Given the description of an element on the screen output the (x, y) to click on. 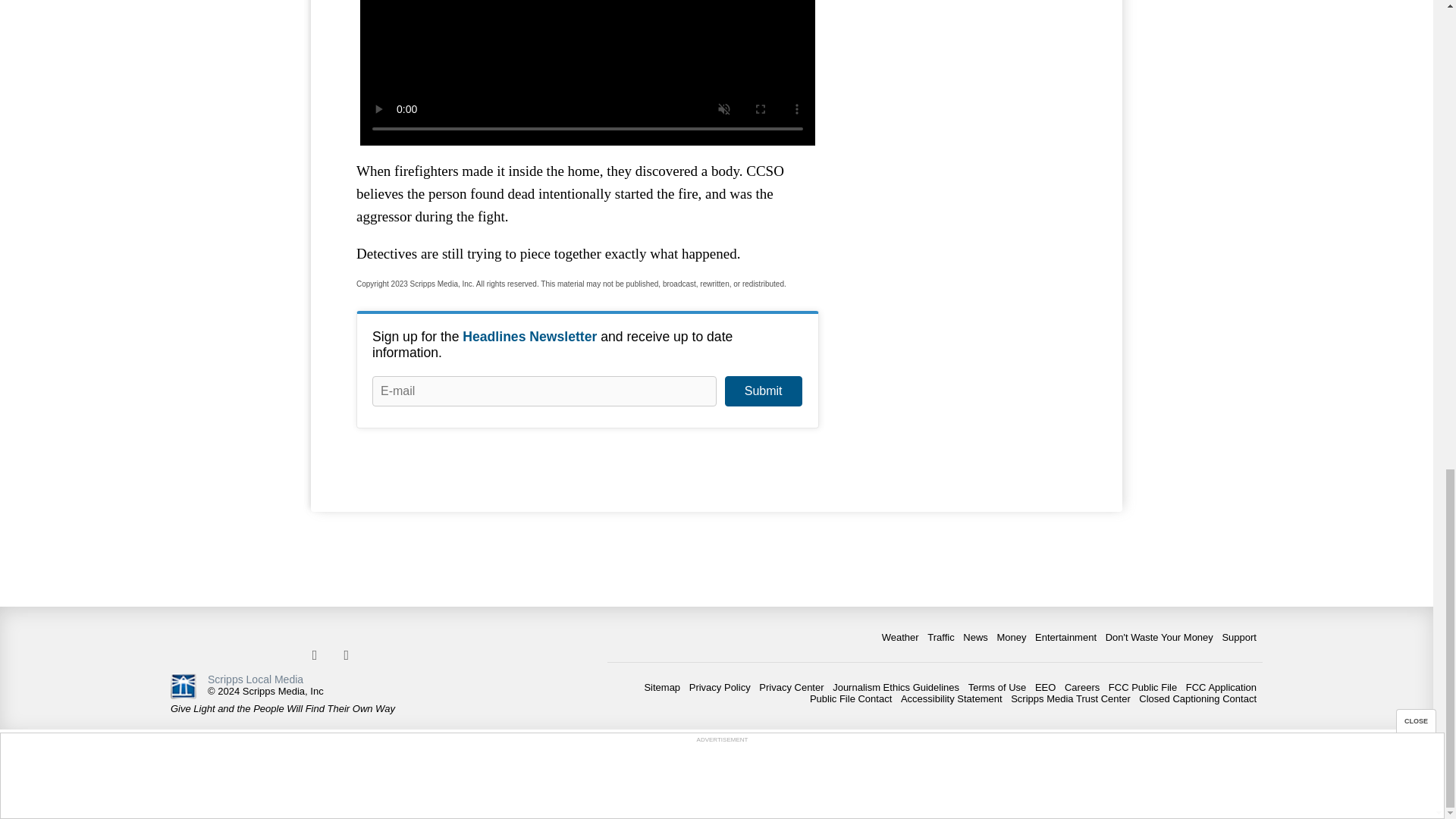
Submit (763, 390)
